Given the description of an element on the screen output the (x, y) to click on. 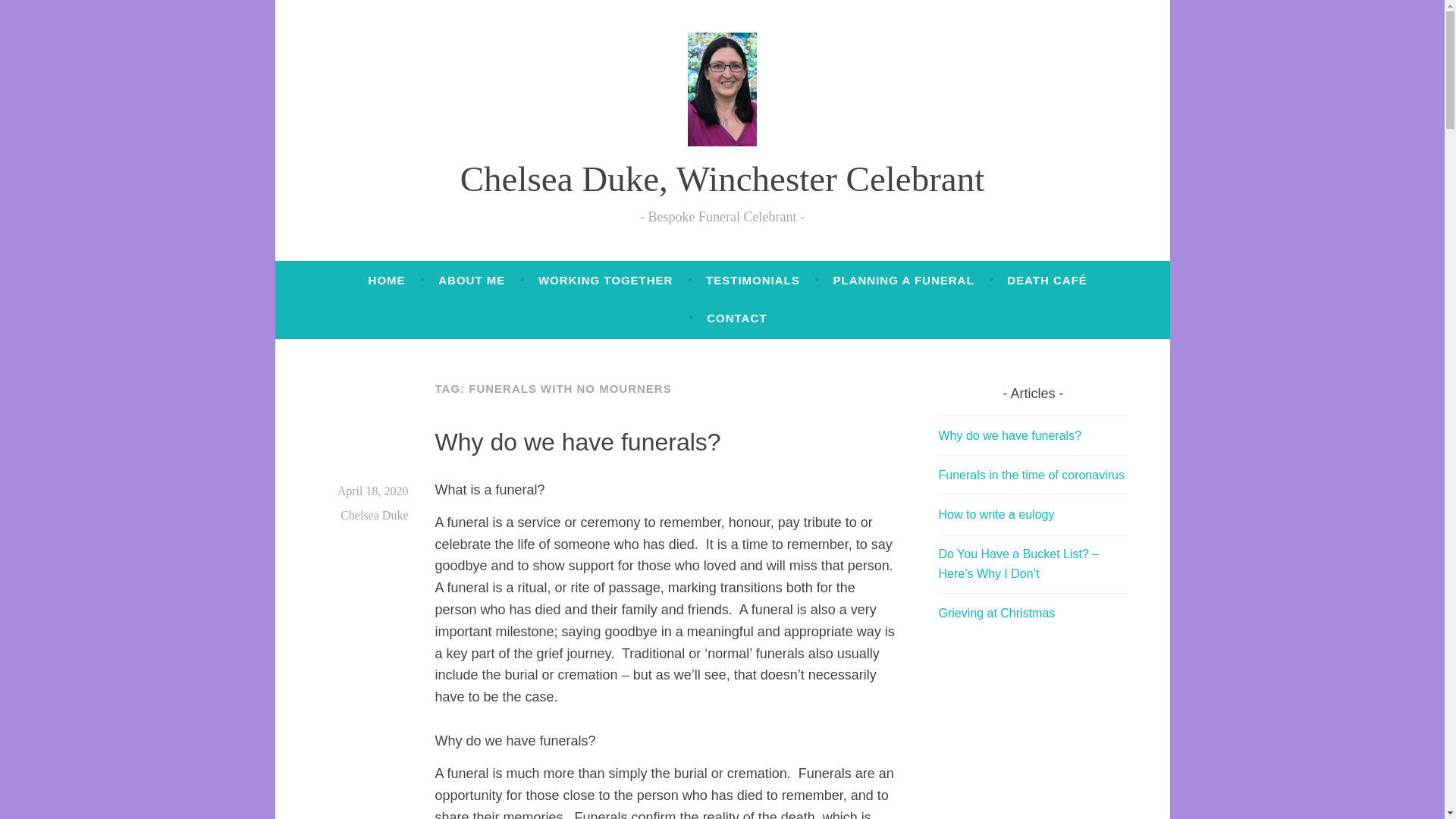
Chelsea Duke (373, 514)
TESTIMONIALS (752, 280)
HOME (387, 280)
PLANNING A FUNERAL (903, 280)
CONTACT (736, 318)
Chelsea Duke, Winchester Celebrant (722, 178)
ABOUT ME (471, 280)
WORKING TOGETHER (605, 280)
April 18, 2020 (373, 490)
Why do we have funerals? (577, 441)
